Given the description of an element on the screen output the (x, y) to click on. 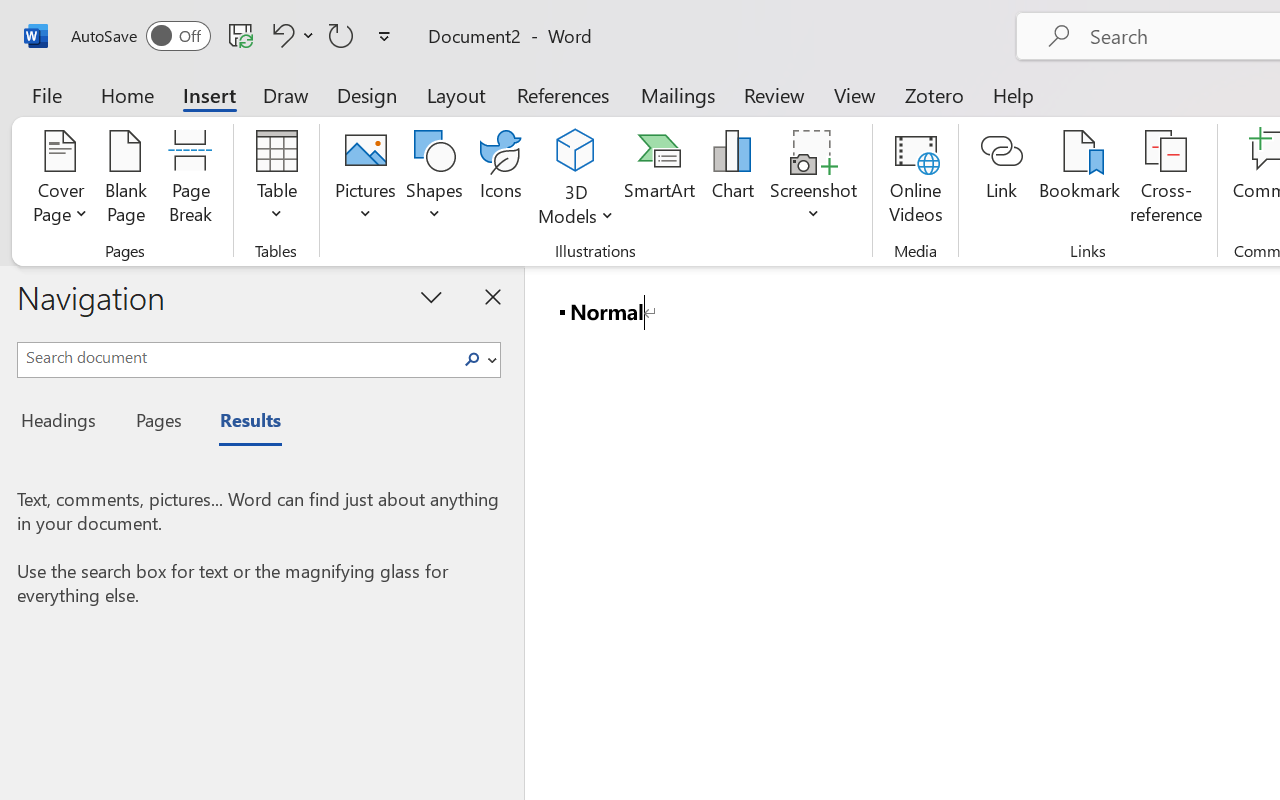
Undo <ApplyStyleToDoc>b__0 (280, 35)
Search (471, 359)
Cover Page (60, 179)
References (562, 94)
3D Models (576, 151)
Search document (236, 357)
Table (276, 179)
Zotero (933, 94)
Bookmark... (1079, 179)
Icons (500, 179)
Draw (285, 94)
Search (478, 359)
Repeat Doc Close (341, 35)
